Given the description of an element on the screen output the (x, y) to click on. 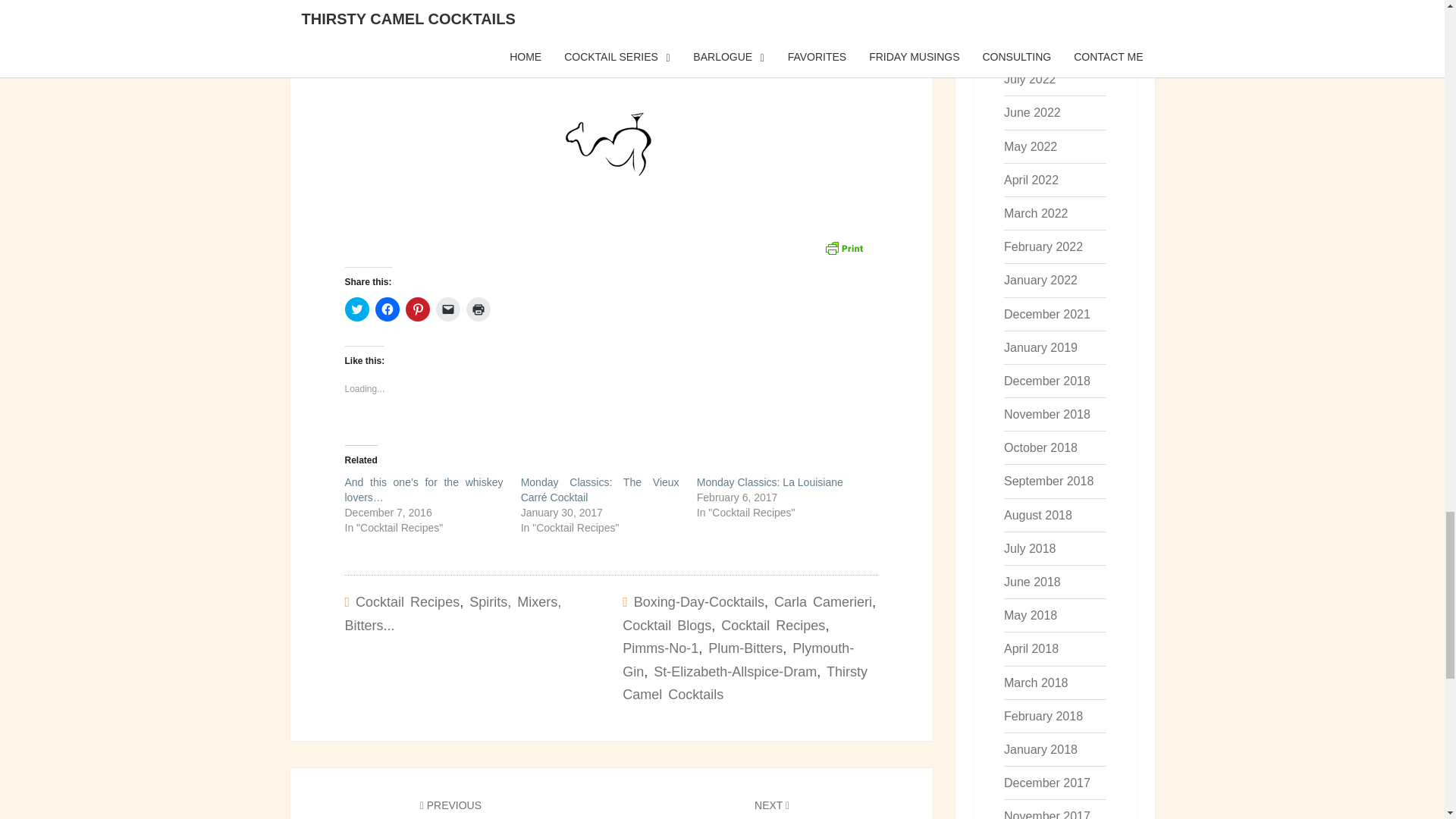
Click to email a link to a friend (447, 309)
Cocktail Recipes (407, 601)
Monday Classics: La Louisiane (770, 481)
Click to share on Facebook (386, 309)
Monday Classics: La Louisiane (770, 481)
Click to share on Twitter (355, 309)
Click to print (477, 309)
Click to share on Pinterest (416, 309)
